Given the description of an element on the screen output the (x, y) to click on. 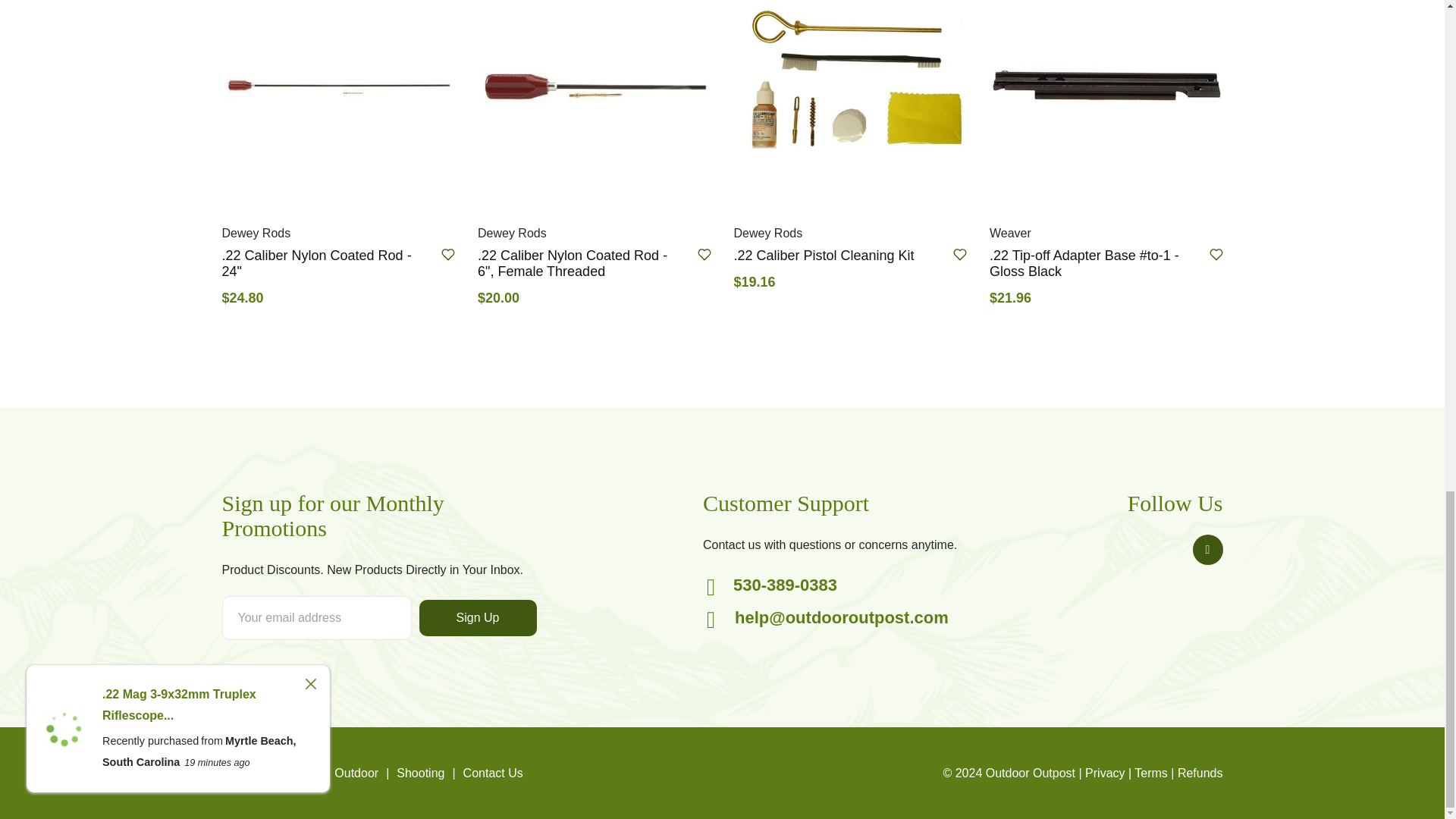
Facebook (1207, 549)
